Given the description of an element on the screen output the (x, y) to click on. 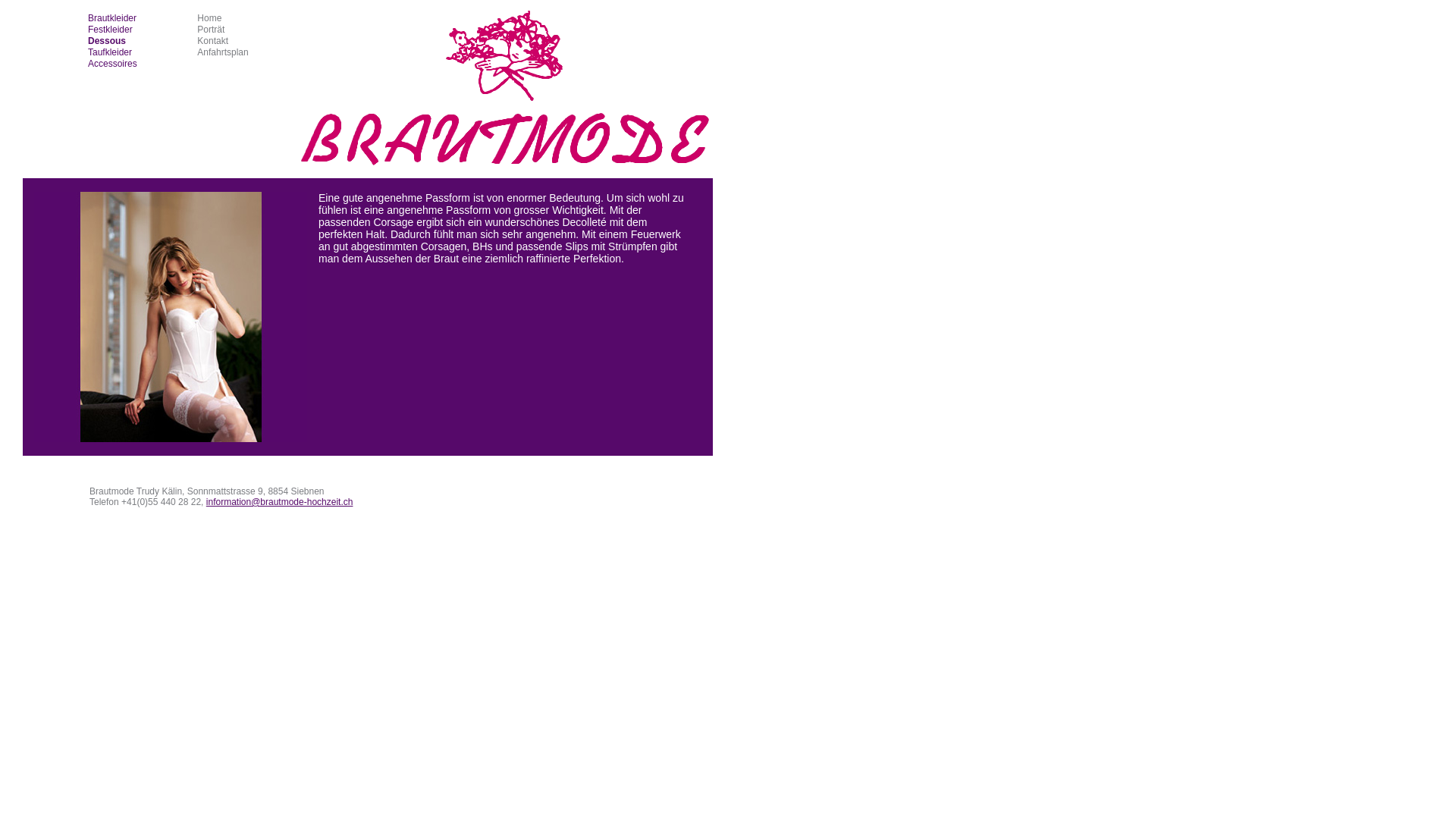
Home Element type: text (209, 17)
Anfahrtsplan Element type: text (222, 52)
Dessous Element type: text (106, 40)
Taufkleider Element type: text (109, 52)
Kontakt Element type: text (212, 40)
Festkleider Element type: text (109, 29)
Accessoires Element type: text (112, 63)
information@brautmode-hochzeit.ch Element type: text (279, 501)
Brautkleider Element type: text (111, 17)
